Given the description of an element on the screen output the (x, y) to click on. 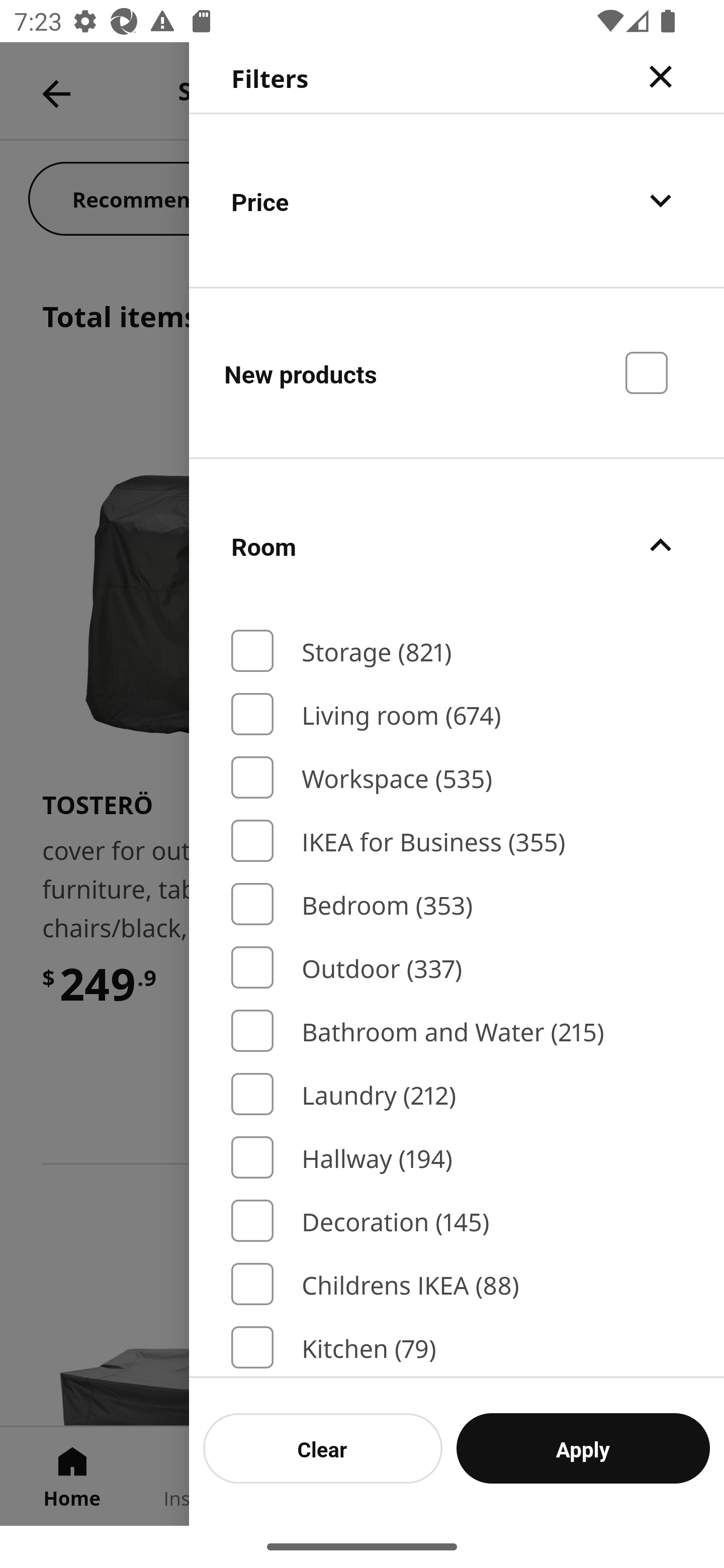
Price (456, 200)
New products (456, 371)
Room (456, 545)
Storage (821) (456, 651)
Living room (674) (456, 714)
Workspace (535) (456, 776)
IKEA for Business (355) (456, 841)
Bedroom (353) (456, 903)
Outdoor (337) (456, 967)
Bathroom and Water (215) (456, 1030)
Laundry (212) (456, 1093)
Hallway (194) (456, 1157)
Decoration (145) (456, 1220)
Childrens IKEA (88) (456, 1283)
Kitchen (79) (456, 1347)
Clear (322, 1447)
Apply (583, 1447)
